Given the description of an element on the screen output the (x, y) to click on. 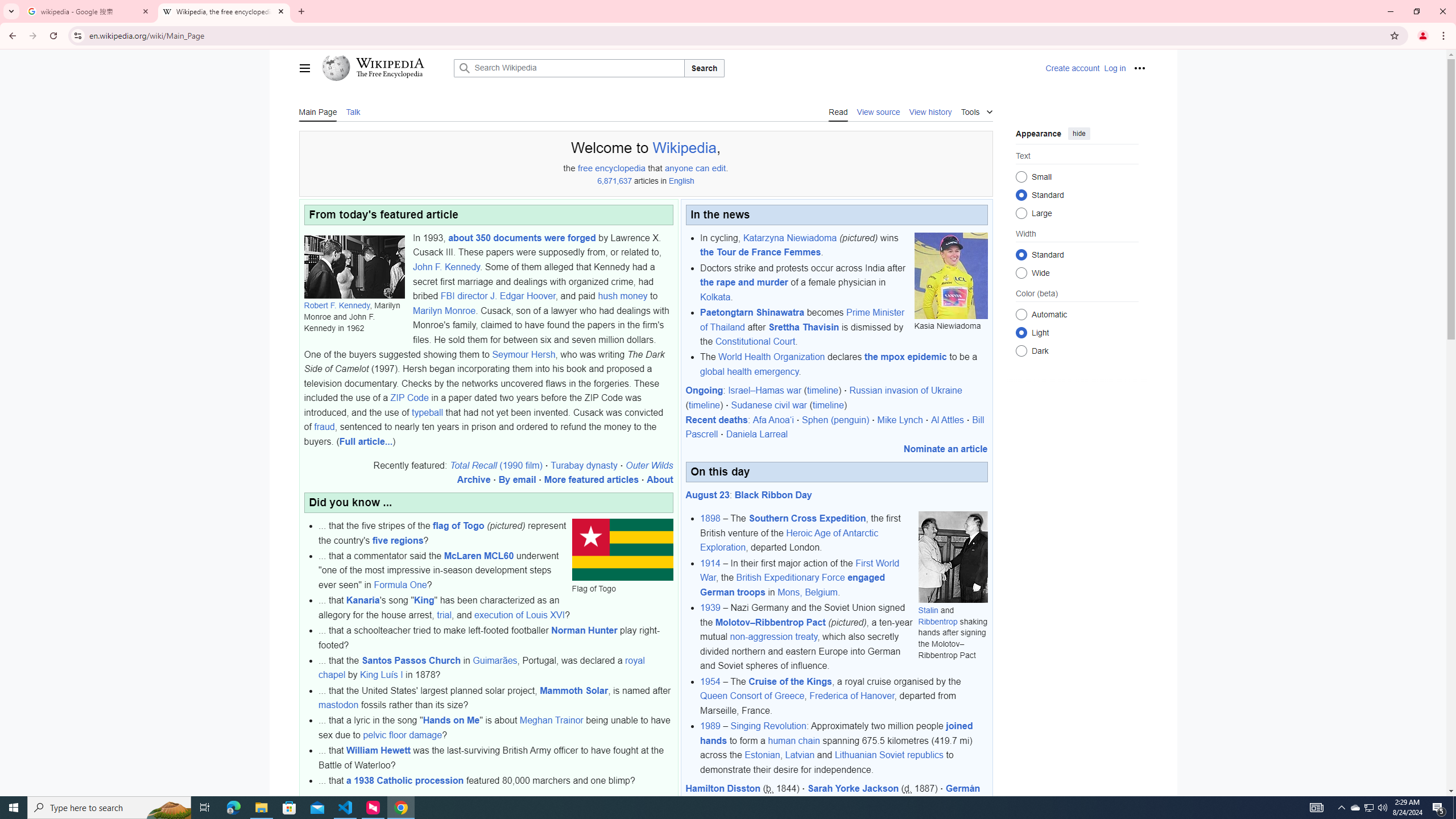
engaged German troops (792, 584)
Paetongtarn Shinawatra (752, 312)
Tools (976, 110)
FBI director (463, 296)
Standard (1020, 254)
Create account (1072, 67)
Start a new article (541, 799)
Marilyn Monroe (444, 310)
ZIP Code (409, 397)
about 350 documents were forged (521, 237)
